Given the description of an element on the screen output the (x, y) to click on. 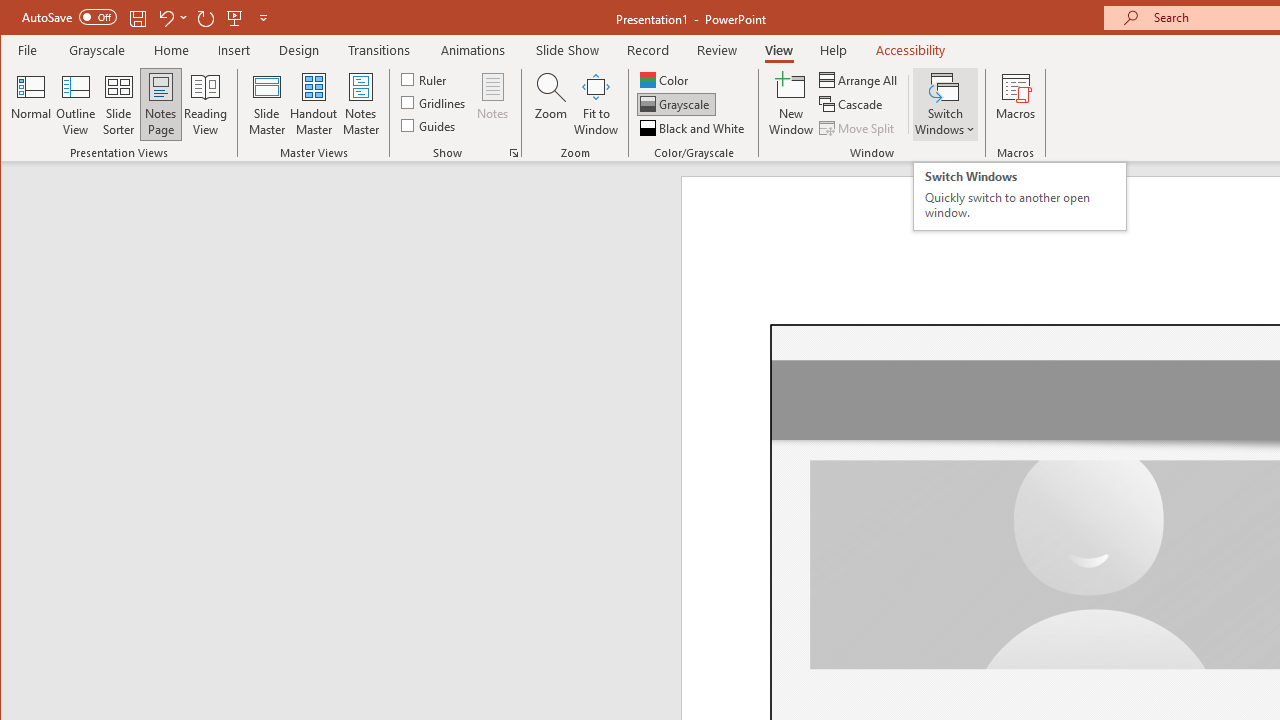
Fit to Window (596, 104)
Macros (1016, 104)
Guides (430, 124)
Notes Master (360, 104)
Grid Settings... (513, 152)
